Given the description of an element on the screen output the (x, y) to click on. 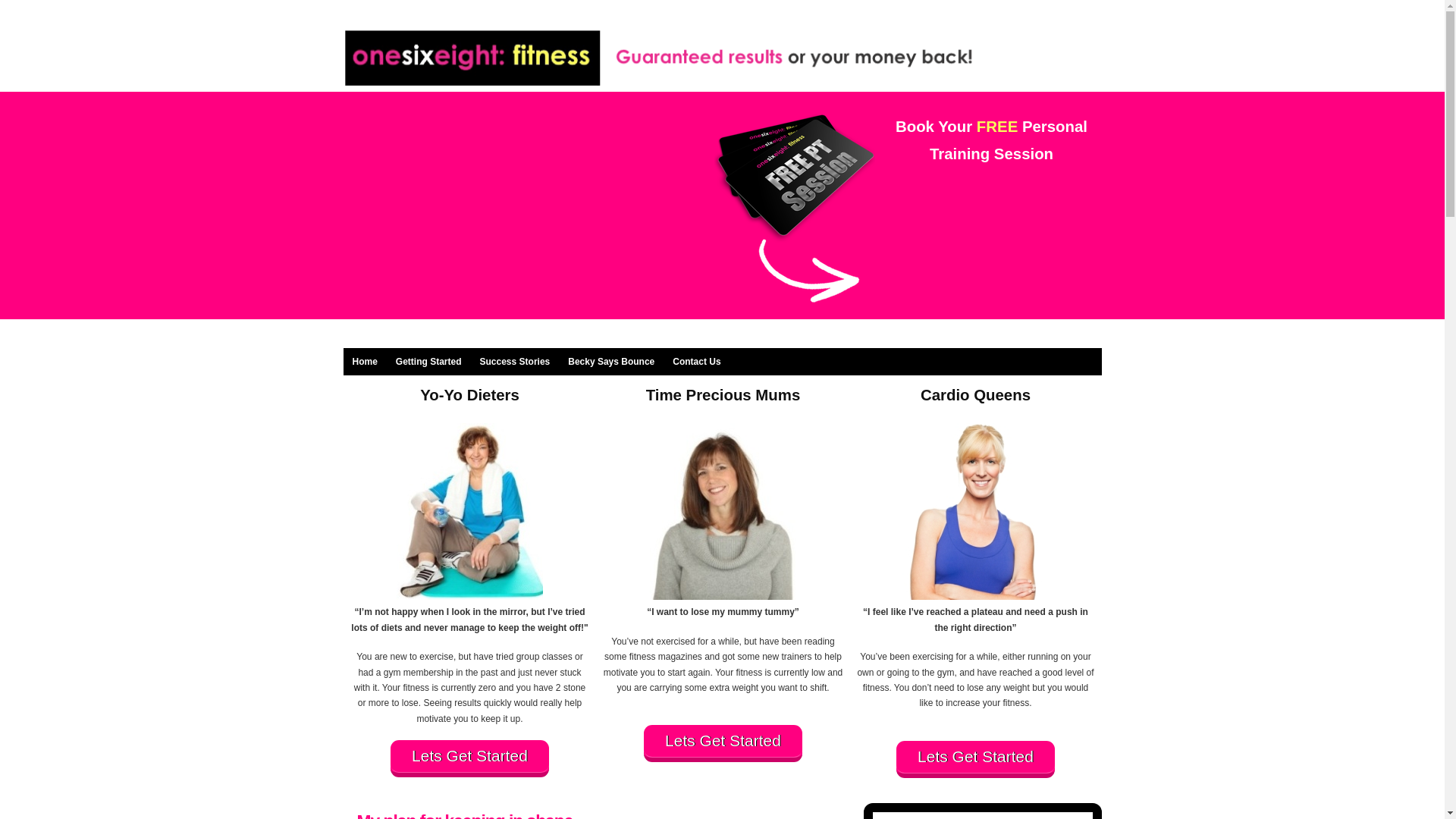
Lets Get Started (975, 759)
Success Stories (514, 361)
Lets Get Started (722, 743)
Home (363, 361)
Contact Us (696, 361)
Getting Started (428, 361)
Lets Get Started (469, 758)
Becky Says Bounce (611, 361)
